Given the description of an element on the screen output the (x, y) to click on. 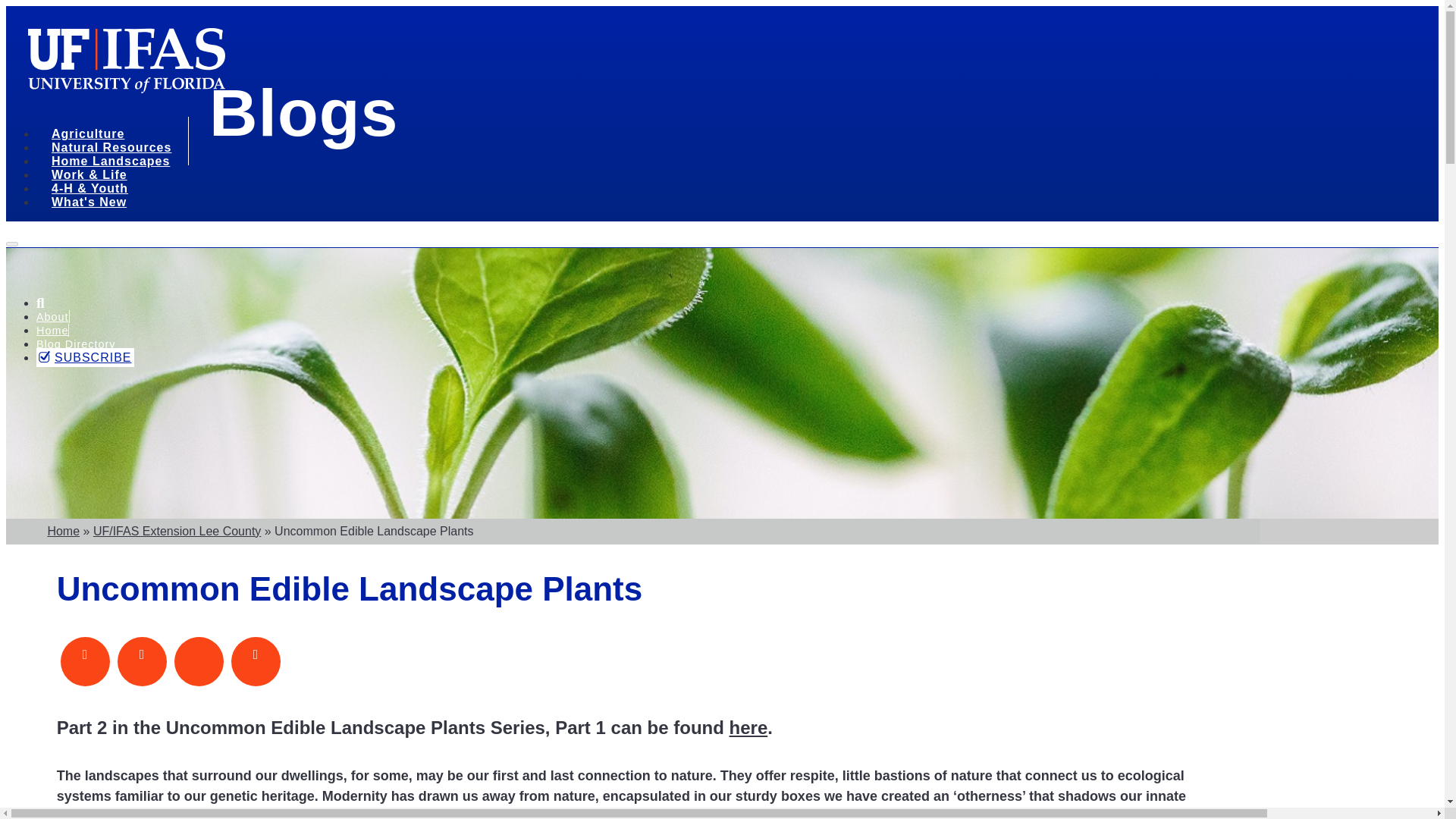
About (52, 316)
Agriculture (92, 135)
Home Landscapes (115, 162)
SUBSCRIBE (84, 357)
Home (52, 330)
Natural Resources (116, 149)
Blogs (303, 112)
Blog Directory (75, 344)
